Given the description of an element on the screen output the (x, y) to click on. 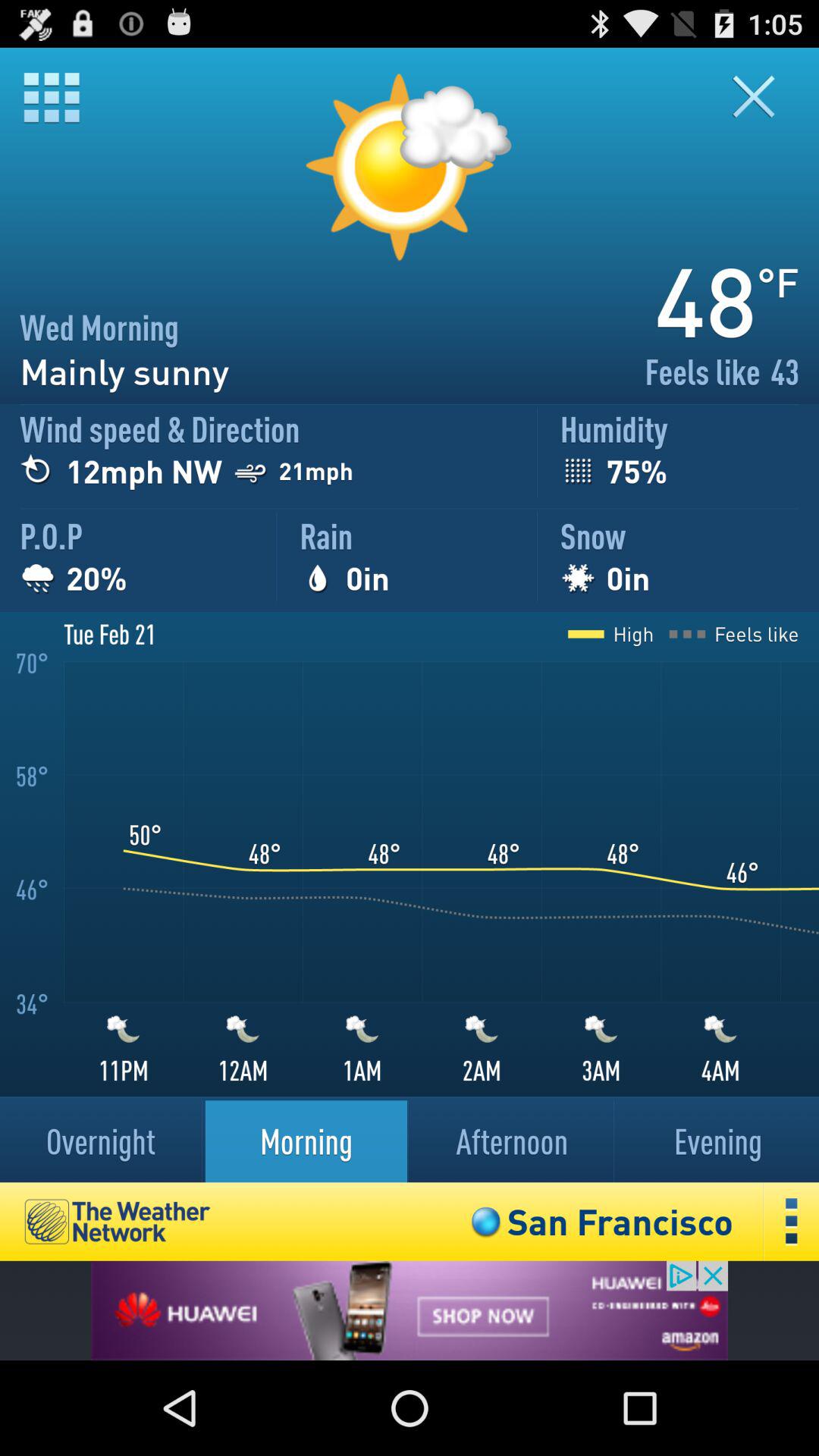
advertisement banner (409, 1310)
